Given the description of an element on the screen output the (x, y) to click on. 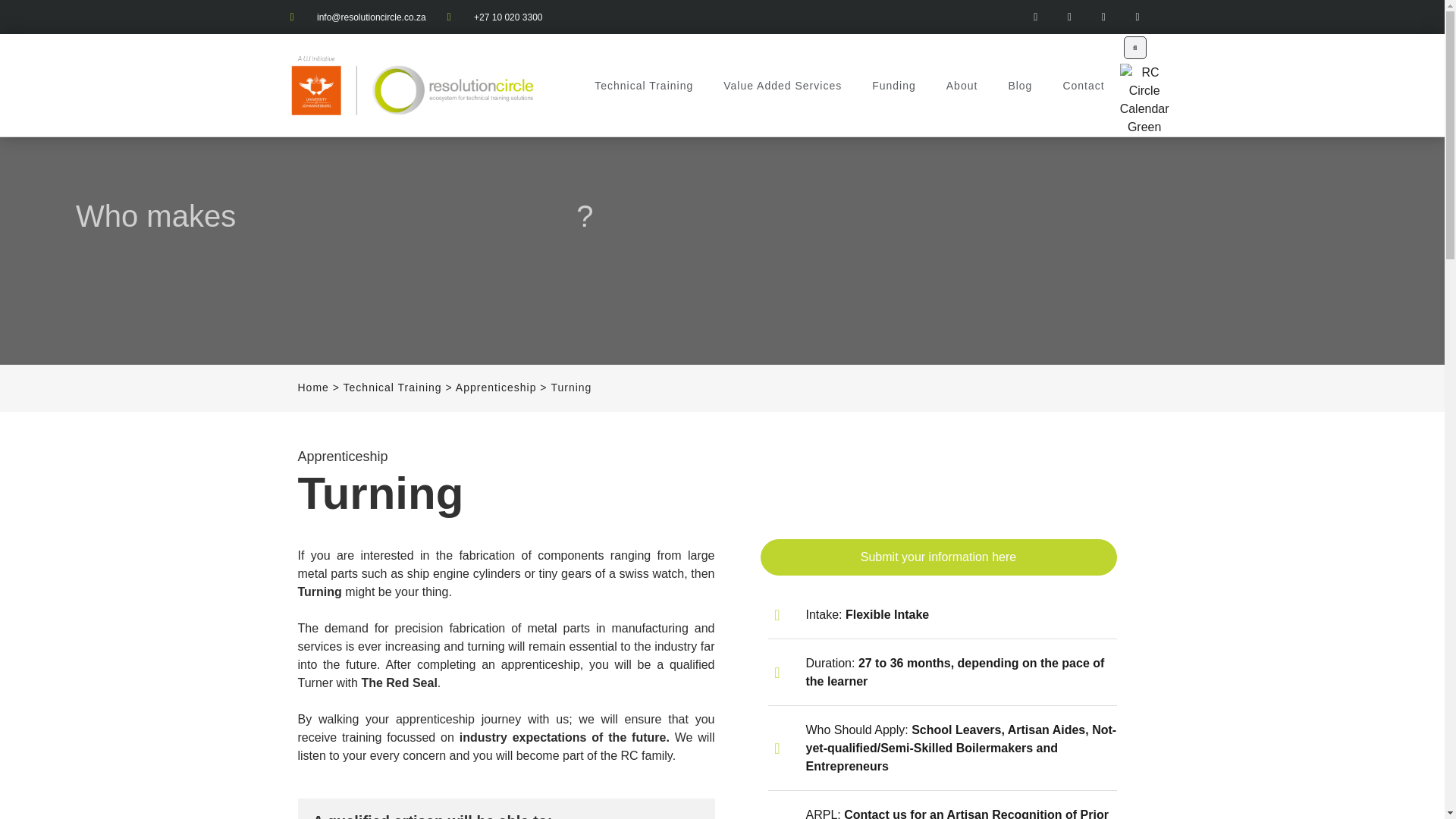
Technical Training (643, 85)
